Given the description of an element on the screen output the (x, y) to click on. 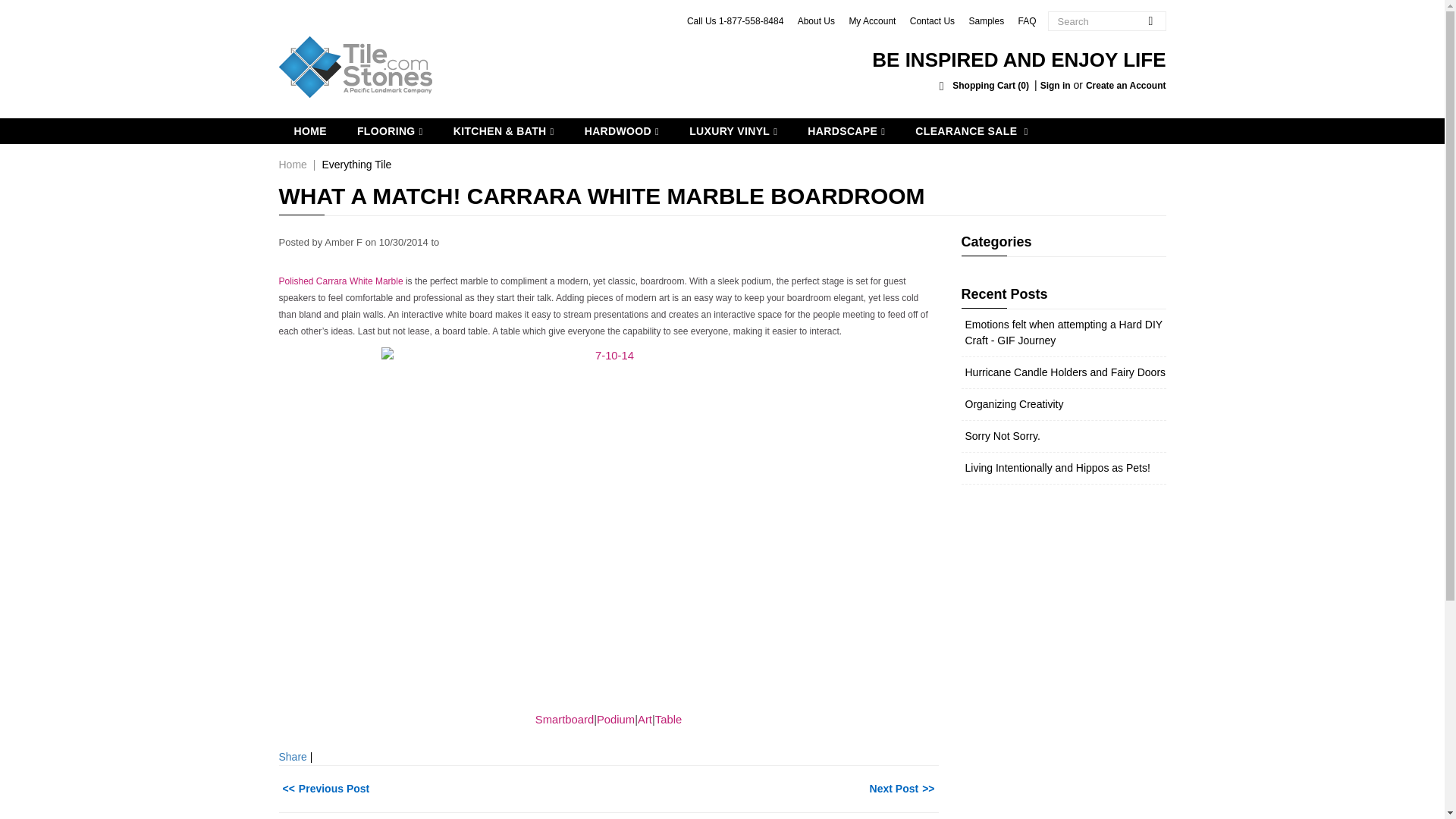
HOME (310, 130)
Samples (986, 20)
1-877-558-8484 (751, 20)
Contact Us (932, 20)
My Account (871, 20)
FLOORING (390, 130)
FAQ (1026, 20)
Sign in (1055, 85)
About Us (815, 20)
HARDWOOD (621, 130)
